Given the description of an element on the screen output the (x, y) to click on. 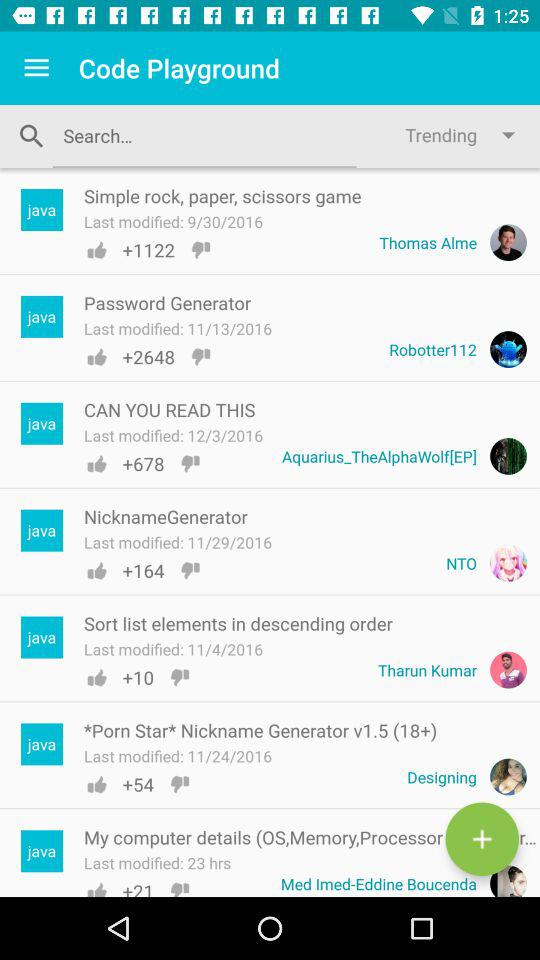
to go search (204, 135)
